Given the description of an element on the screen output the (x, y) to click on. 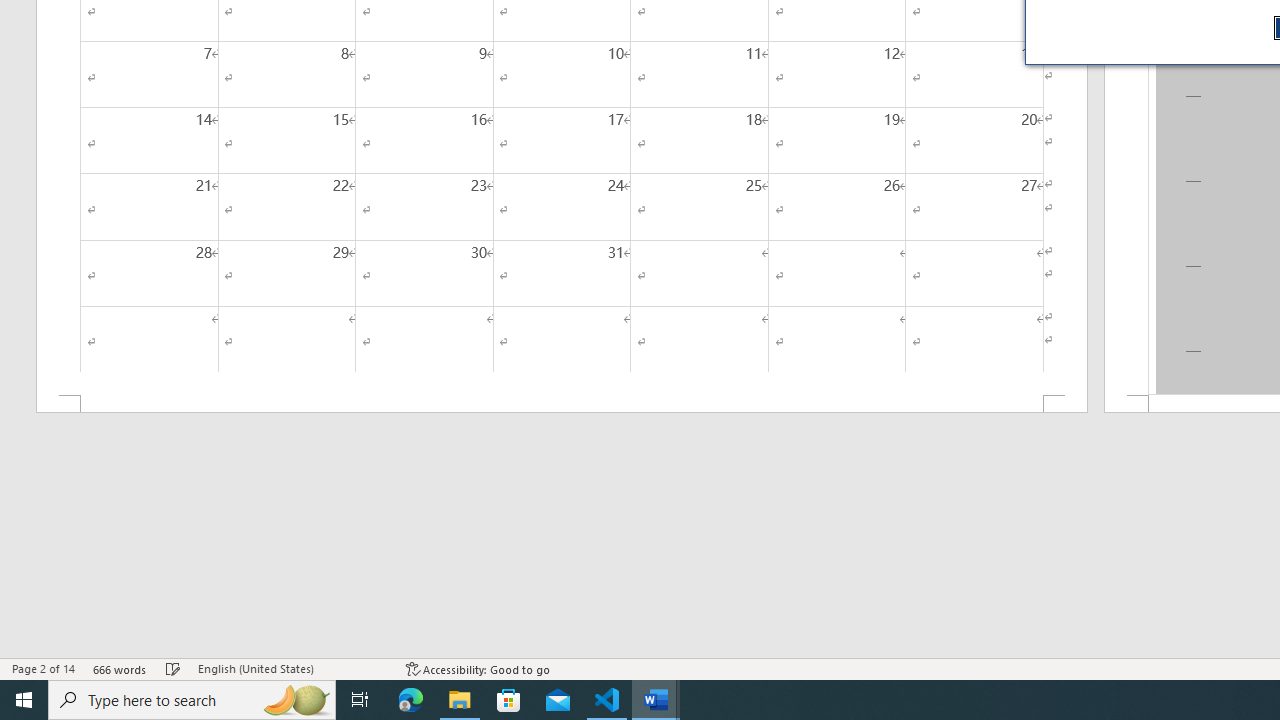
Microsoft Edge (411, 699)
Type here to search (191, 699)
Page Number Page 2 of 14 (43, 668)
Start (24, 699)
Microsoft Store (509, 699)
Footer -Section 1- (561, 404)
Accessibility Checker Accessibility: Good to go (478, 668)
Spelling and Grammar Check Checking (173, 668)
Visual Studio Code - 1 running window (607, 699)
Task View (359, 699)
Search highlights icon opens search home window (295, 699)
File Explorer - 1 running window (460, 699)
Word Count 666 words (119, 668)
Language English (United States) (292, 668)
